Given the description of an element on the screen output the (x, y) to click on. 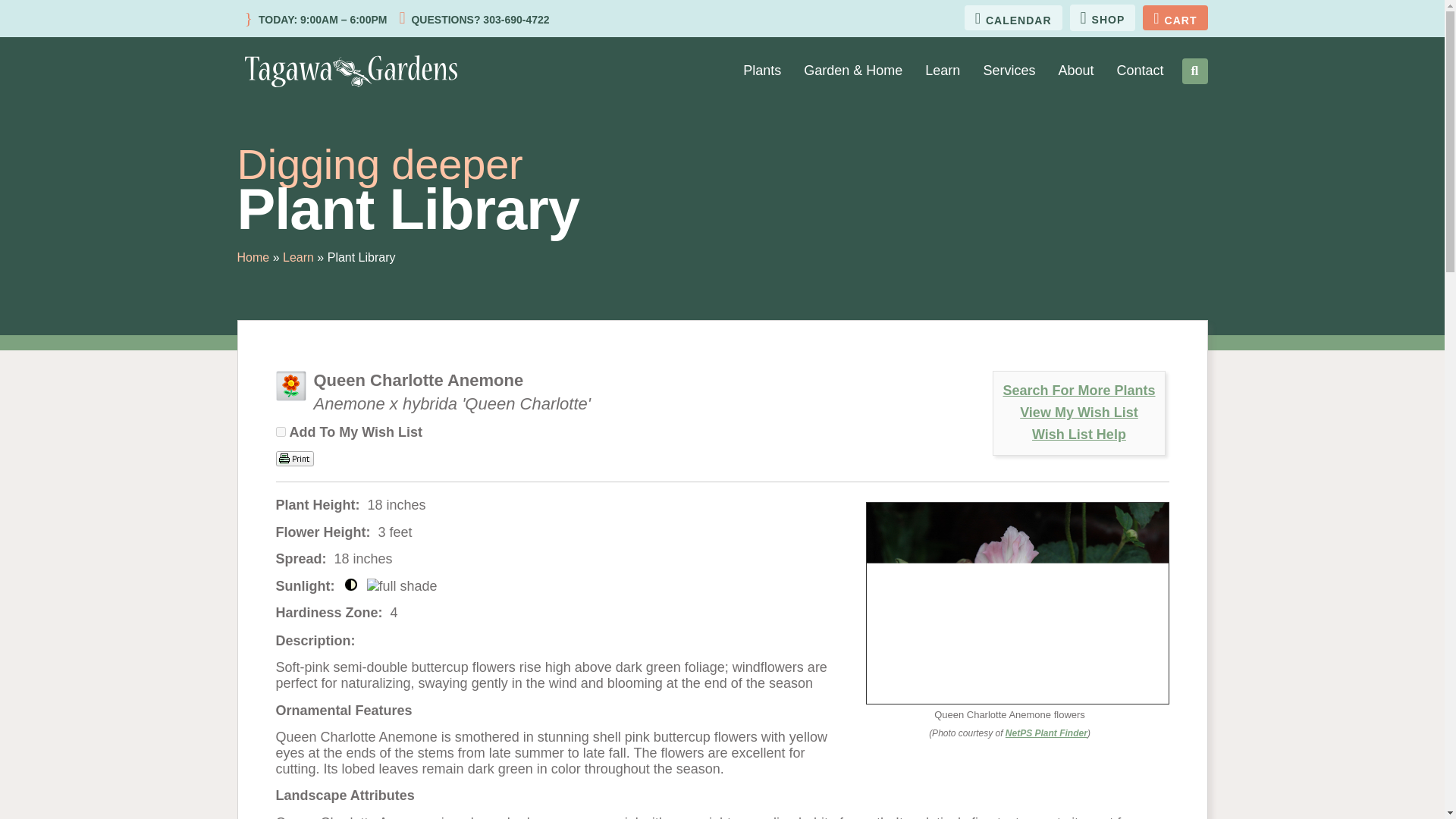
CALENDAR (1012, 17)
partial shade (350, 584)
Plants (761, 70)
About (1075, 70)
SHOP (1102, 17)
full shade (402, 586)
perennial (290, 386)
CART (1174, 17)
303-690-4722 (514, 19)
True (280, 431)
Contact (1139, 70)
print page (295, 458)
Learn (941, 70)
Services (1008, 70)
